Given the description of an element on the screen output the (x, y) to click on. 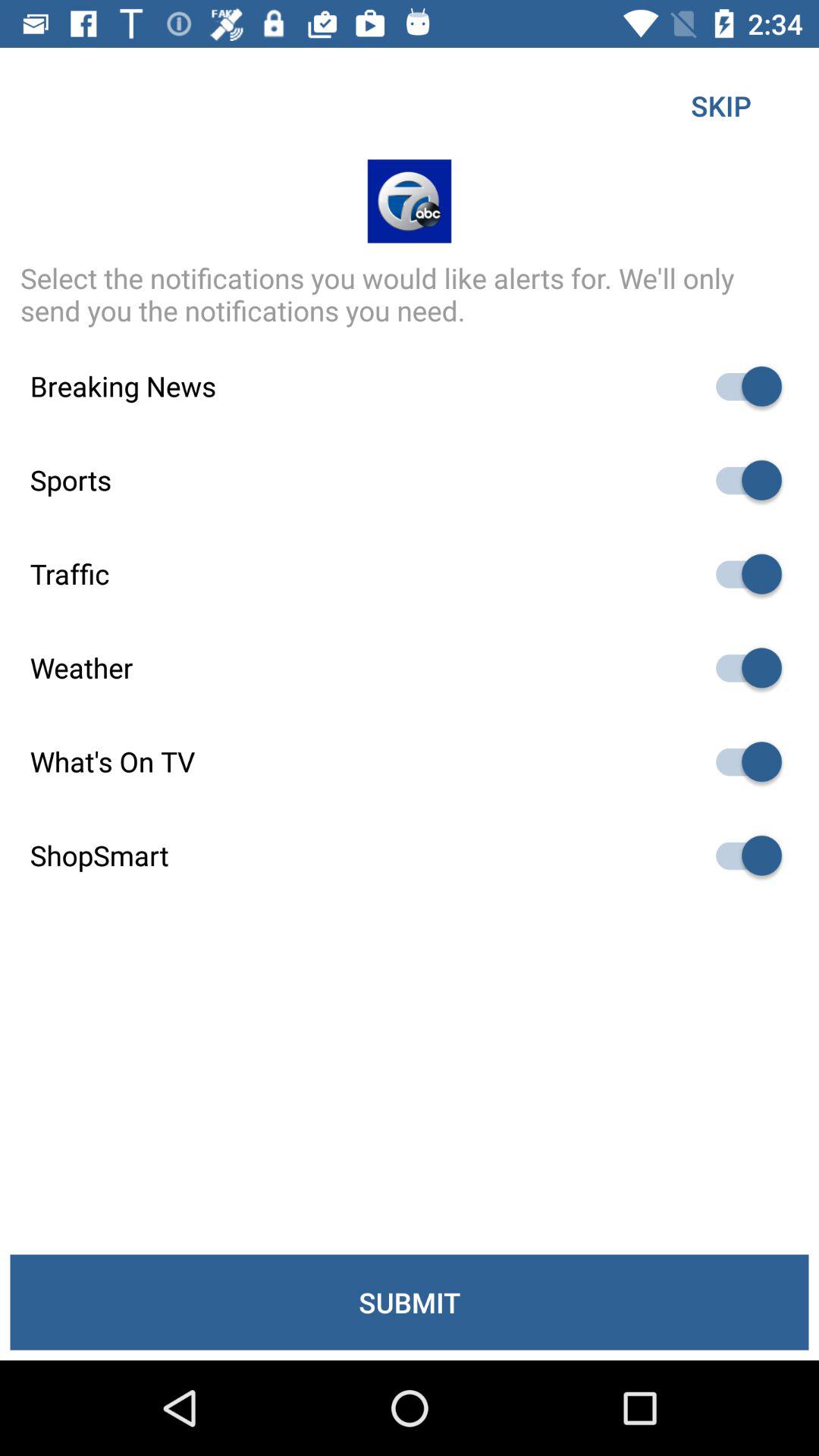
toggle sports (741, 480)
